Given the description of an element on the screen output the (x, y) to click on. 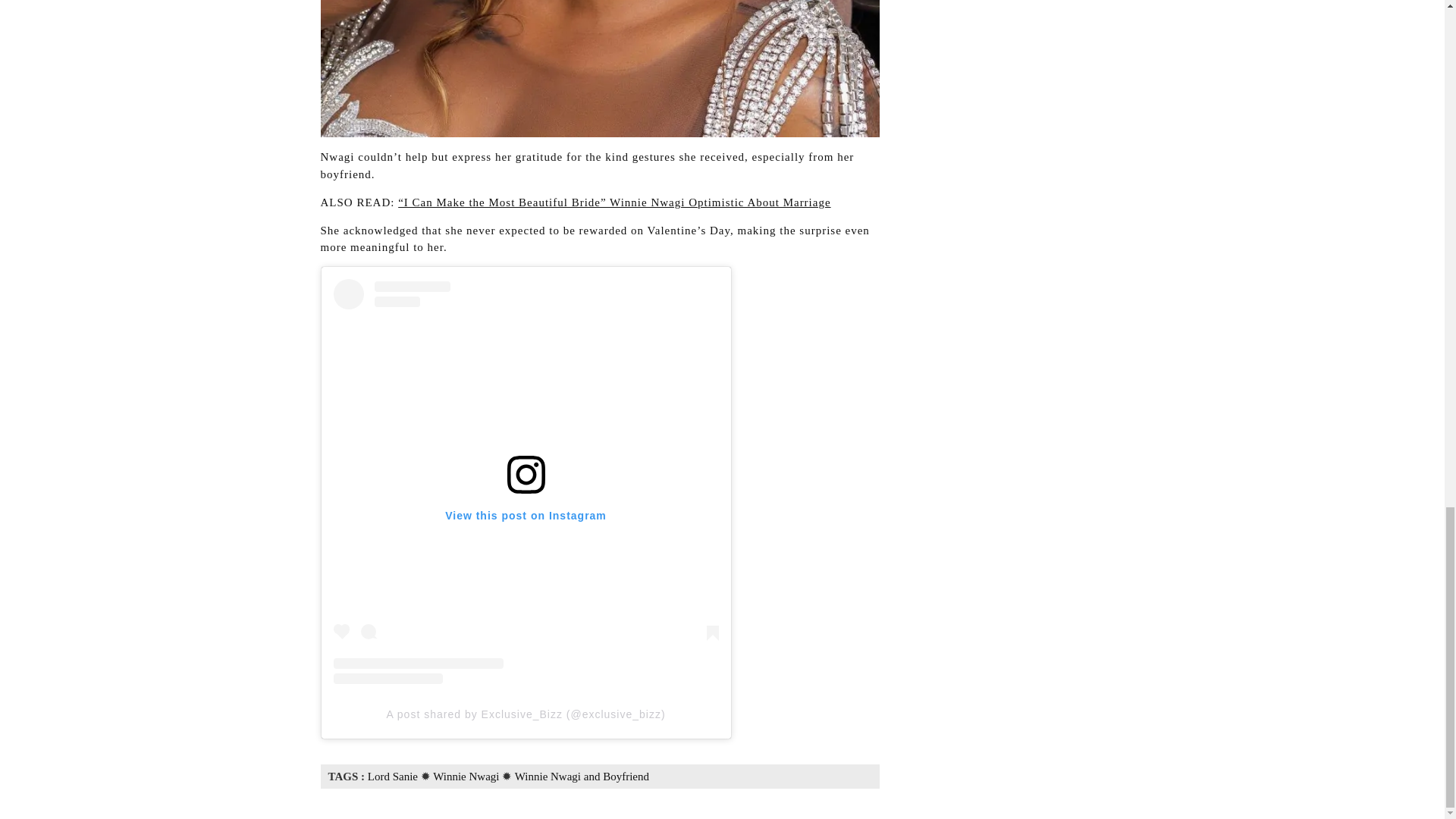
Lord Sanie (392, 776)
Winnie Nwagi and Boyfriend (582, 776)
Winnie Nwagi (465, 776)
